Given the description of an element on the screen output the (x, y) to click on. 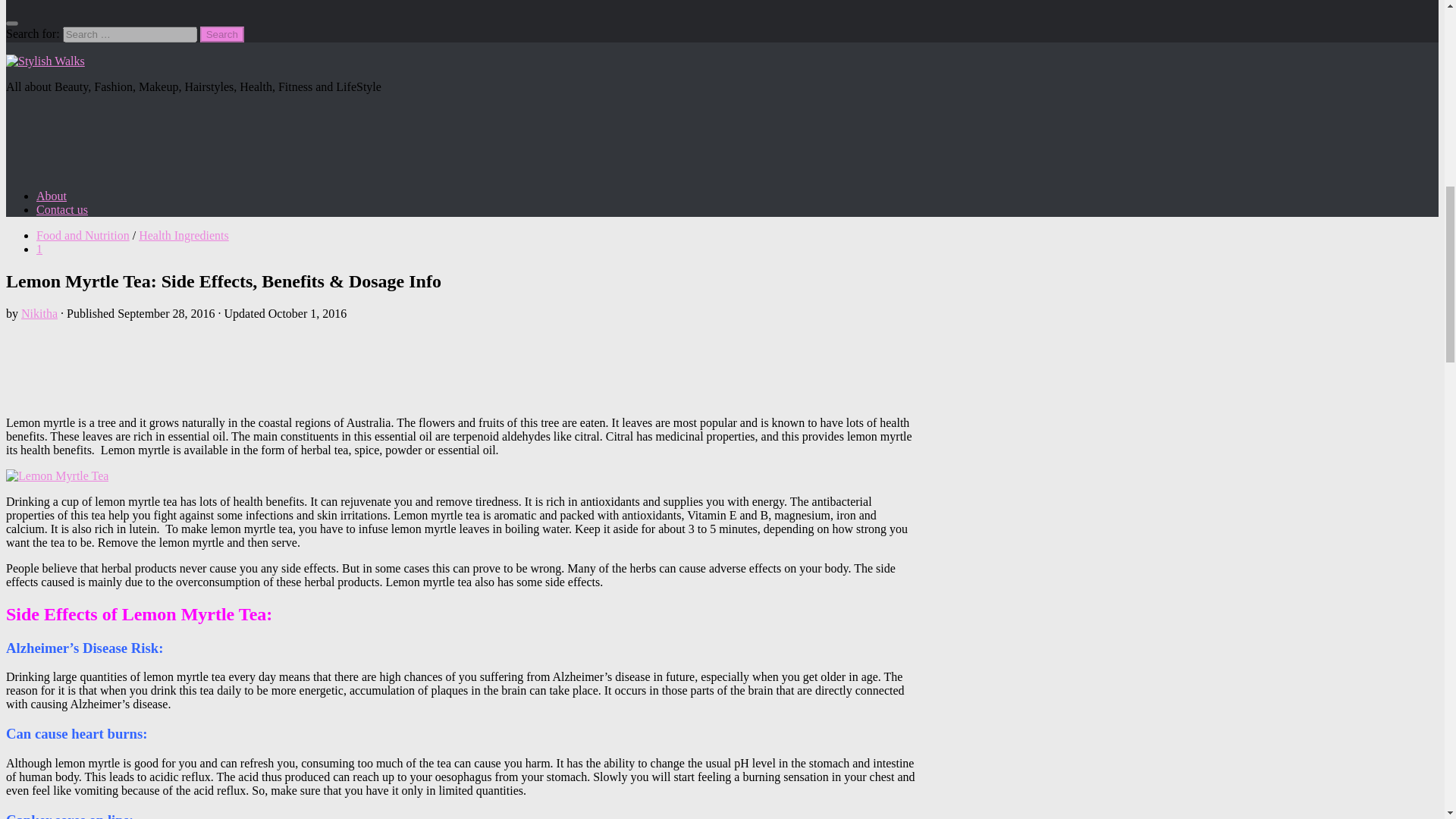
Search (222, 34)
Posts by Nikitha (39, 313)
Search (222, 34)
